Given the description of an element on the screen output the (x, y) to click on. 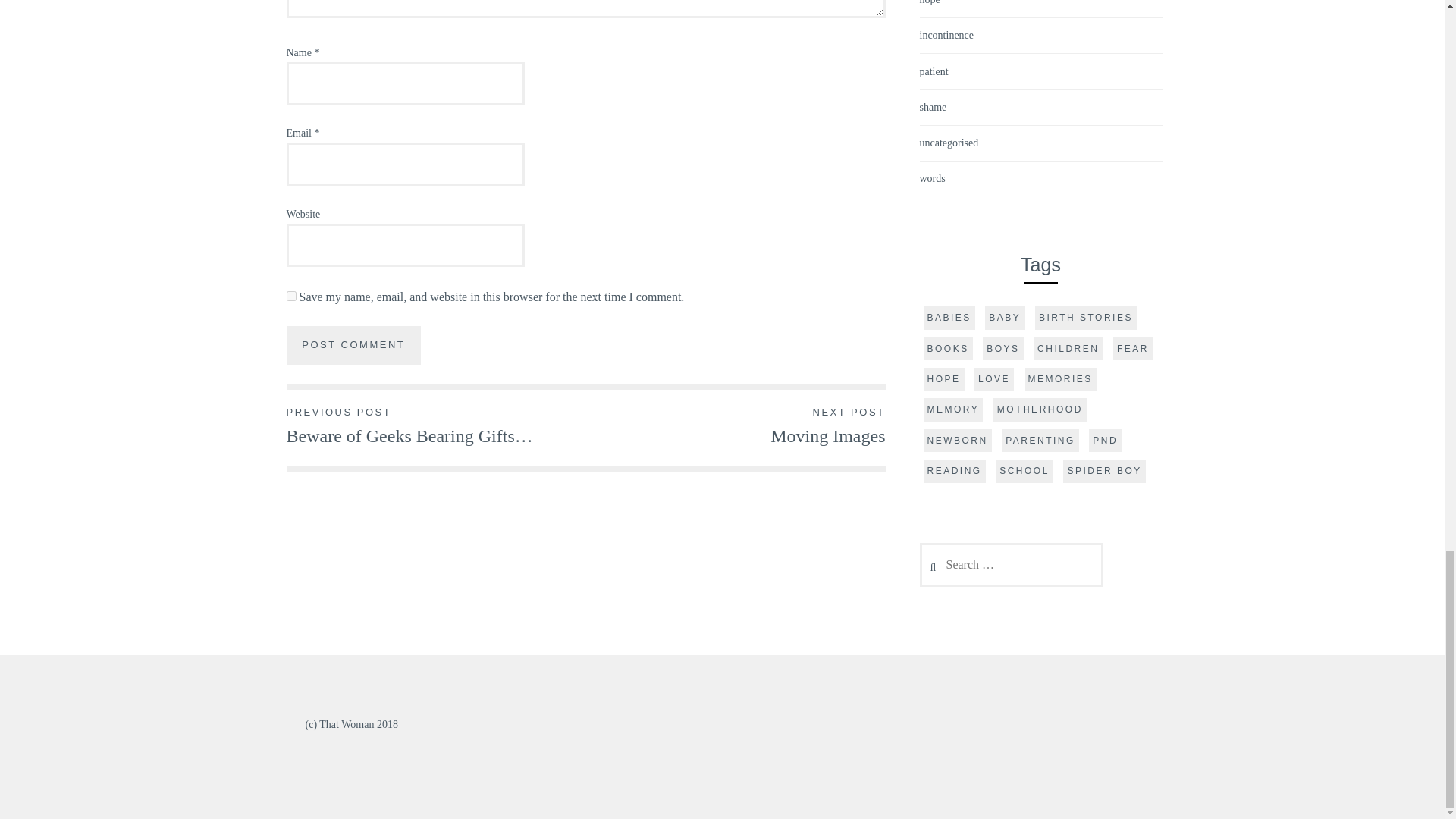
yes (291, 296)
Post Comment (354, 344)
Post Comment (354, 344)
